Given the description of an element on the screen output the (x, y) to click on. 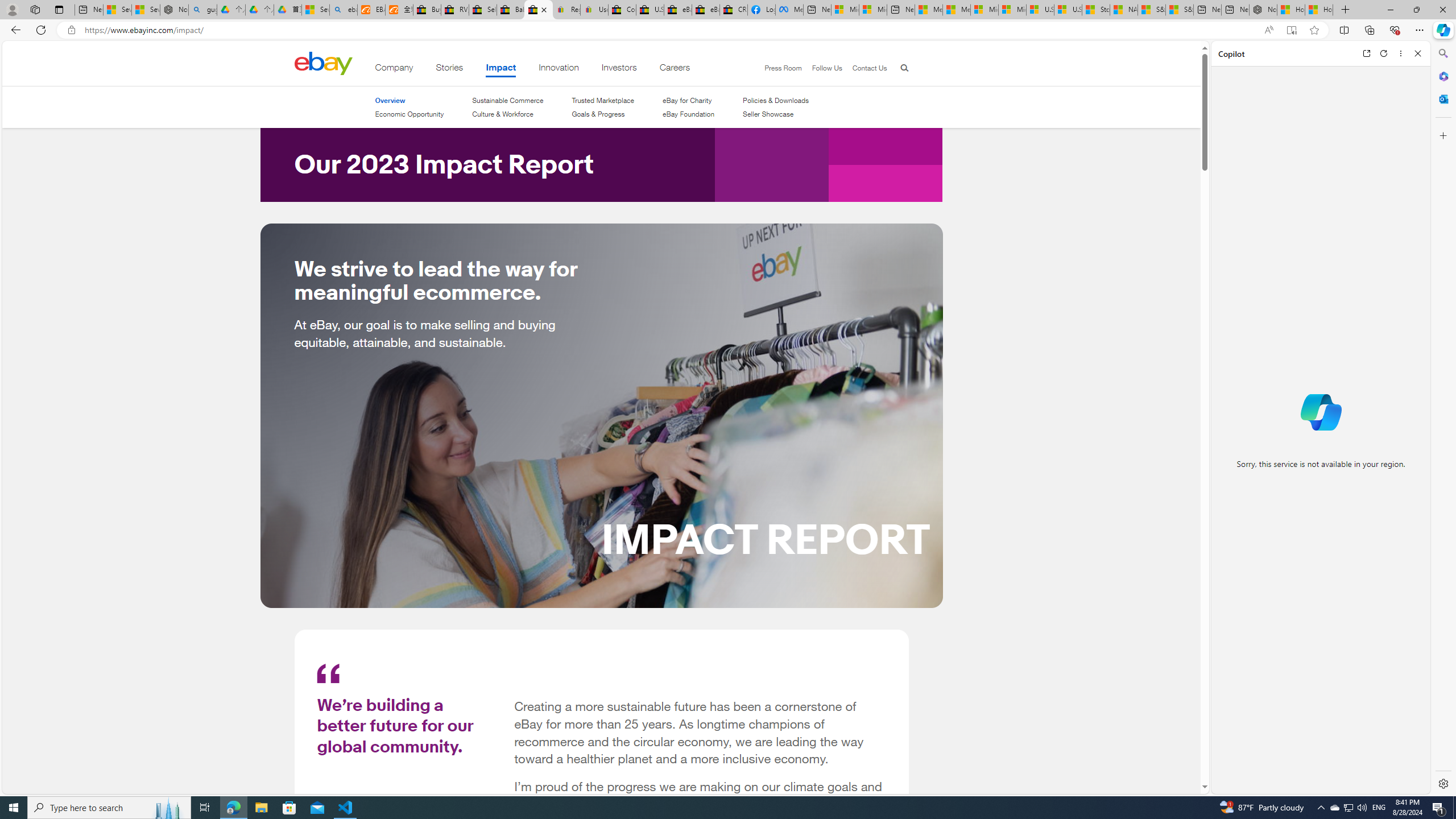
S&P 500, Nasdaq end lower, weighed by Nvidia dip | Watch (1179, 9)
Browser essentials (1394, 29)
App bar (728, 29)
eBay Foundation (688, 113)
Read aloud this page (Ctrl+Shift+U) (1268, 29)
Side bar (1443, 418)
Culture & Workforce (507, 113)
Policies & Downloads (775, 99)
Economic Opportunity (409, 113)
Overview (390, 99)
Class: desktop (323, 63)
Home (323, 63)
Innovation (558, 69)
Innovation (558, 69)
